Given the description of an element on the screen output the (x, y) to click on. 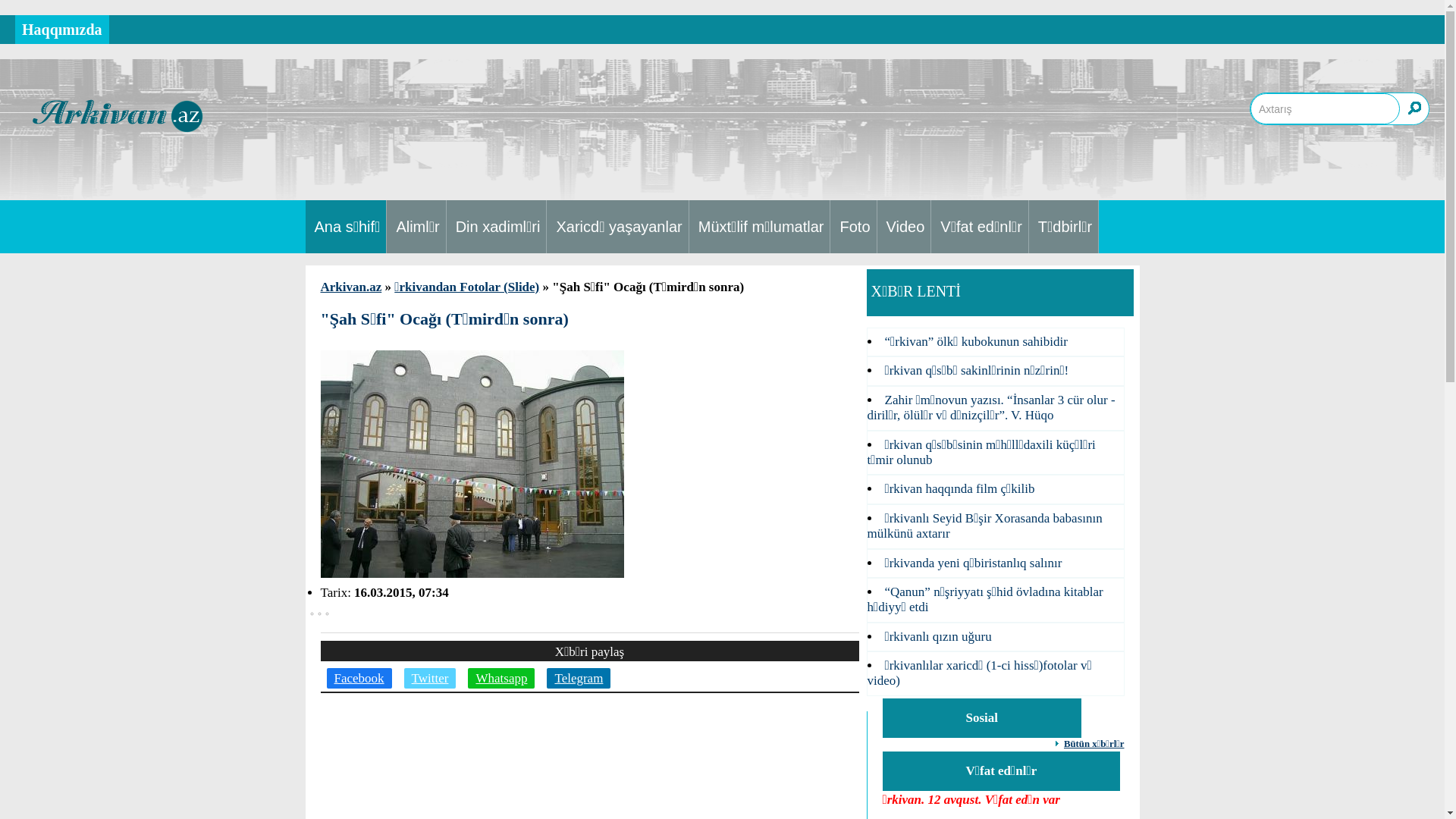
Whatsapp Element type: text (500, 678)
Telegram Element type: text (578, 678)
Arkivan.az Element type: text (350, 286)
OK Element type: text (1413, 108)
Foto Element type: text (853, 226)
Video Element type: text (904, 226)
Sosial Element type: text (982, 717)
Twitter Element type: text (430, 678)
Facebook Element type: text (358, 678)
